Given the description of an element on the screen output the (x, y) to click on. 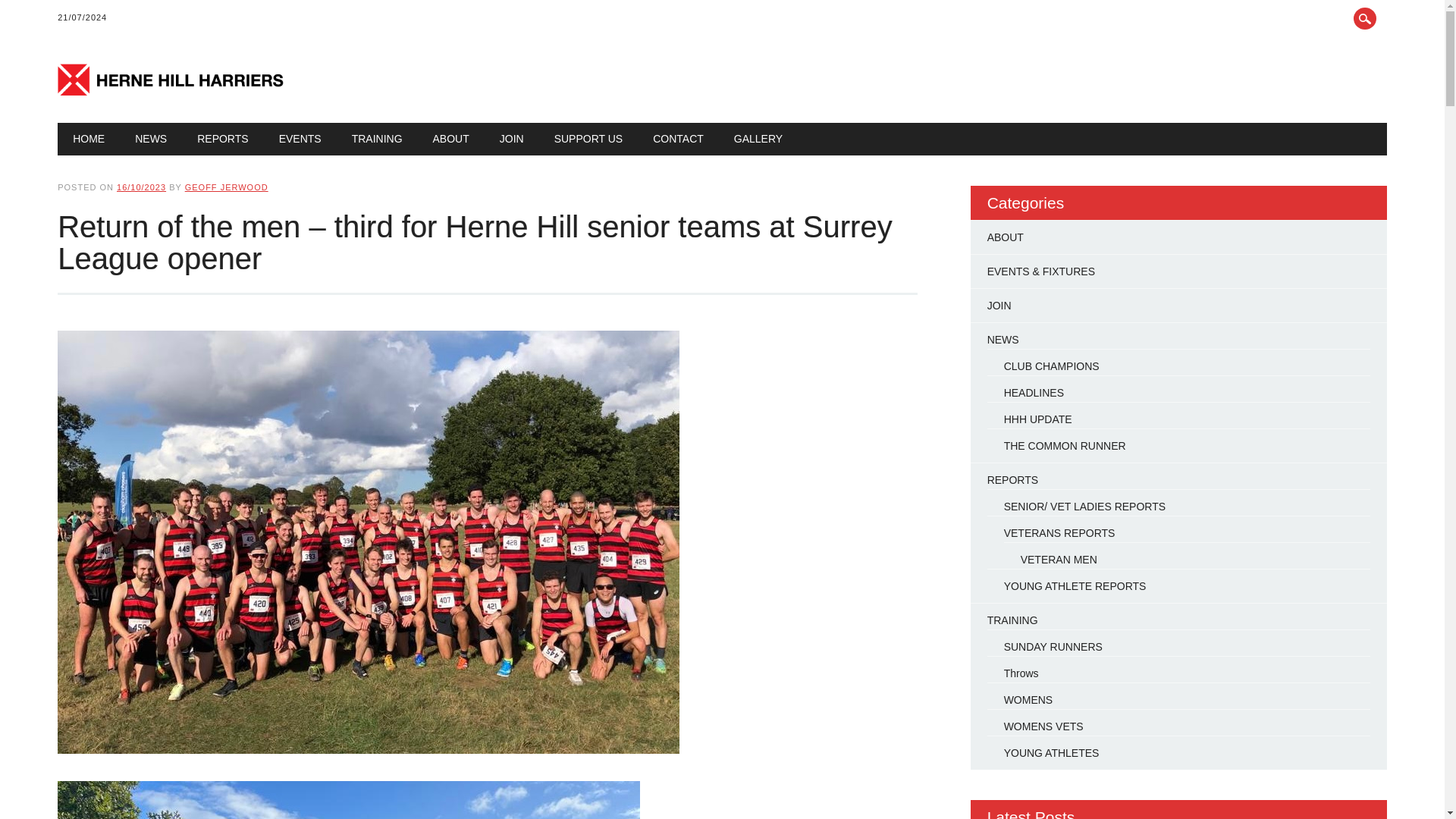
TRAINING (376, 138)
10:37 pm (140, 186)
View all posts by Geoff Jerwood (225, 186)
NEWS (150, 138)
EVENTS (299, 138)
HOME (88, 138)
Herne Hill Harriers (171, 91)
REPORTS (222, 138)
ABOUT (450, 138)
